Given the description of an element on the screen output the (x, y) to click on. 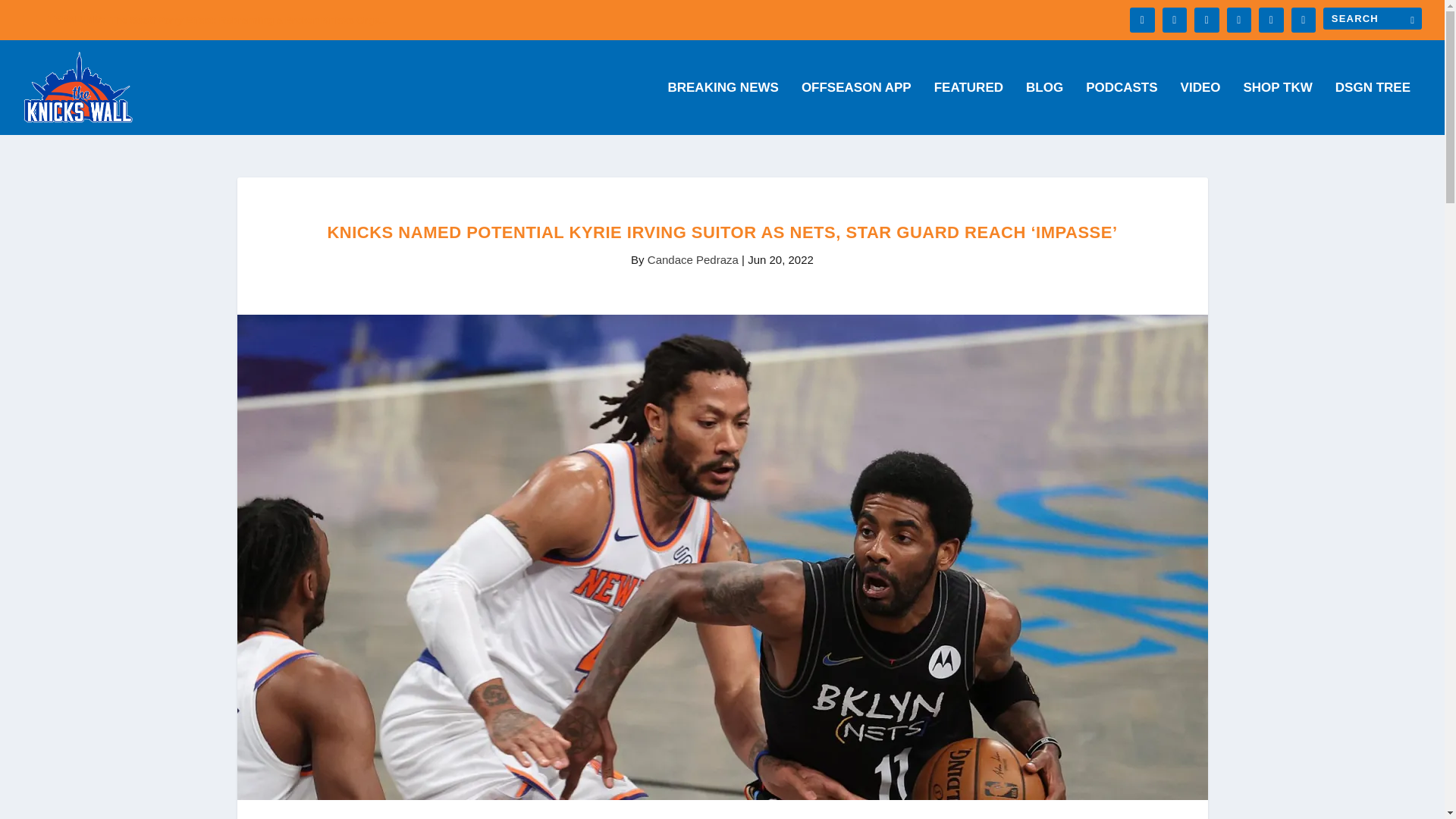
BREAKING NEWS (721, 108)
Posts by Candace Pedraza (692, 259)
DSGN TREE (1372, 108)
FEATURED (968, 108)
OFFSEASON APP (856, 108)
SHOP TKW (1278, 108)
PODCASTS (1121, 108)
Search for: (1372, 18)
The Scott Perry Effect: Rebranding a Broken Knicks Orga... (248, 19)
